Given the description of an element on the screen output the (x, y) to click on. 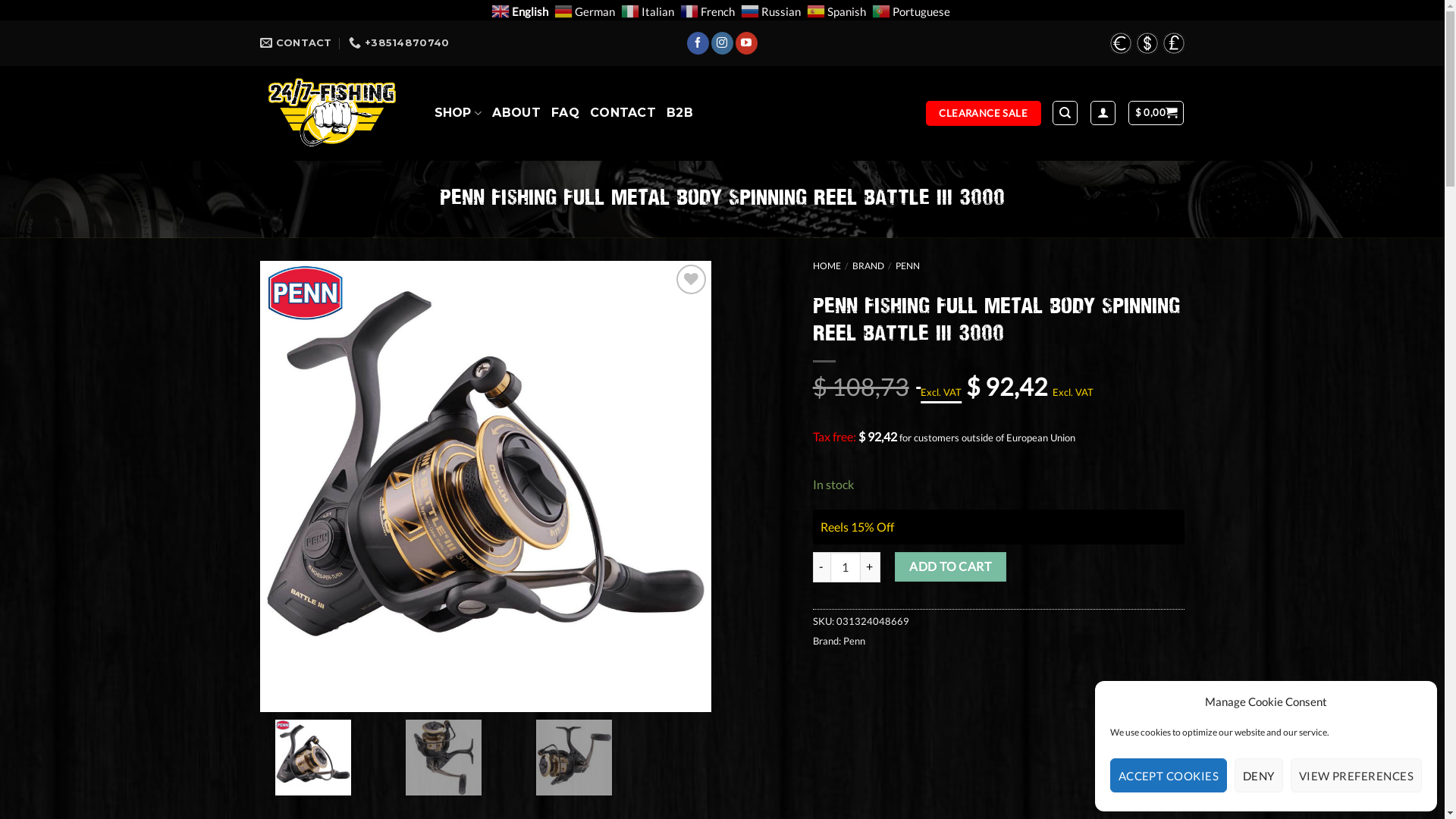
VIEW PREFERENCES Element type: text (1355, 775)
B2B Element type: text (679, 112)
Follow on Facebook Element type: hover (698, 42)
HOME Element type: text (826, 265)
24/7-FISHING Freshwater fishing store - Fish like a PRO Element type: hover (335, 112)
Portuguese Element type: text (912, 9)
ABOUT Element type: text (516, 112)
CONTACT Element type: text (295, 42)
BRAND Element type: text (868, 265)
DENY Element type: text (1258, 775)
CONTACT Element type: text (622, 112)
image1 Element type: hover (484, 486)
$ 0,00 Element type: text (1155, 112)
  Element type: text (1144, 43)
CLEARANCE SALE Element type: text (983, 112)
English Element type: text (521, 9)
Spanish Element type: text (837, 9)
Italian Element type: text (648, 9)
+38514870740 Element type: text (398, 42)
ADD TO CART Element type: text (950, 566)
PENN Element type: text (907, 265)
Follow on YouTube Element type: hover (746, 42)
Russian Element type: text (771, 9)
FAQ Element type: text (565, 112)
German Element type: text (585, 9)
  Element type: text (1172, 43)
ACCEPT COOKIES Element type: text (1168, 775)
SHOP Element type: text (457, 113)
Follow on Instagram Element type: hover (722, 42)
Penn Element type: text (854, 640)
French Element type: text (708, 9)
